Given the description of an element on the screen output the (x, y) to click on. 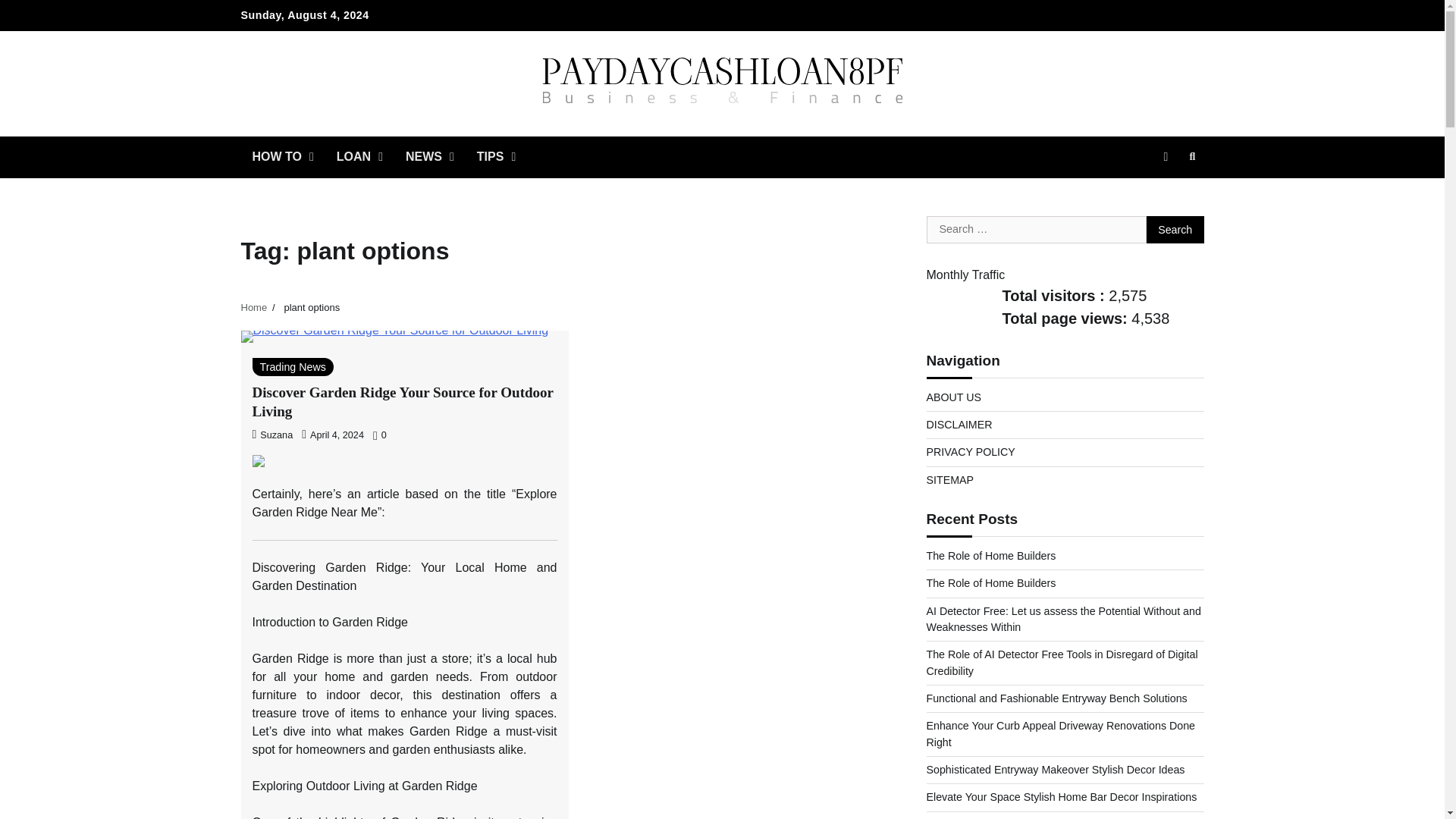
The Role of Home Builders (991, 582)
The Role of Home Builders (991, 555)
Search (1175, 229)
Search (1175, 229)
SITEMAP (950, 480)
ABOUT US (953, 397)
Suzana (271, 434)
HOW TO (282, 156)
Search (1192, 156)
Home (254, 307)
NEWS (429, 156)
Functional and Fashionable Entryway Bench Solutions (1057, 698)
TIPS (496, 156)
Search (1164, 192)
